Given the description of an element on the screen output the (x, y) to click on. 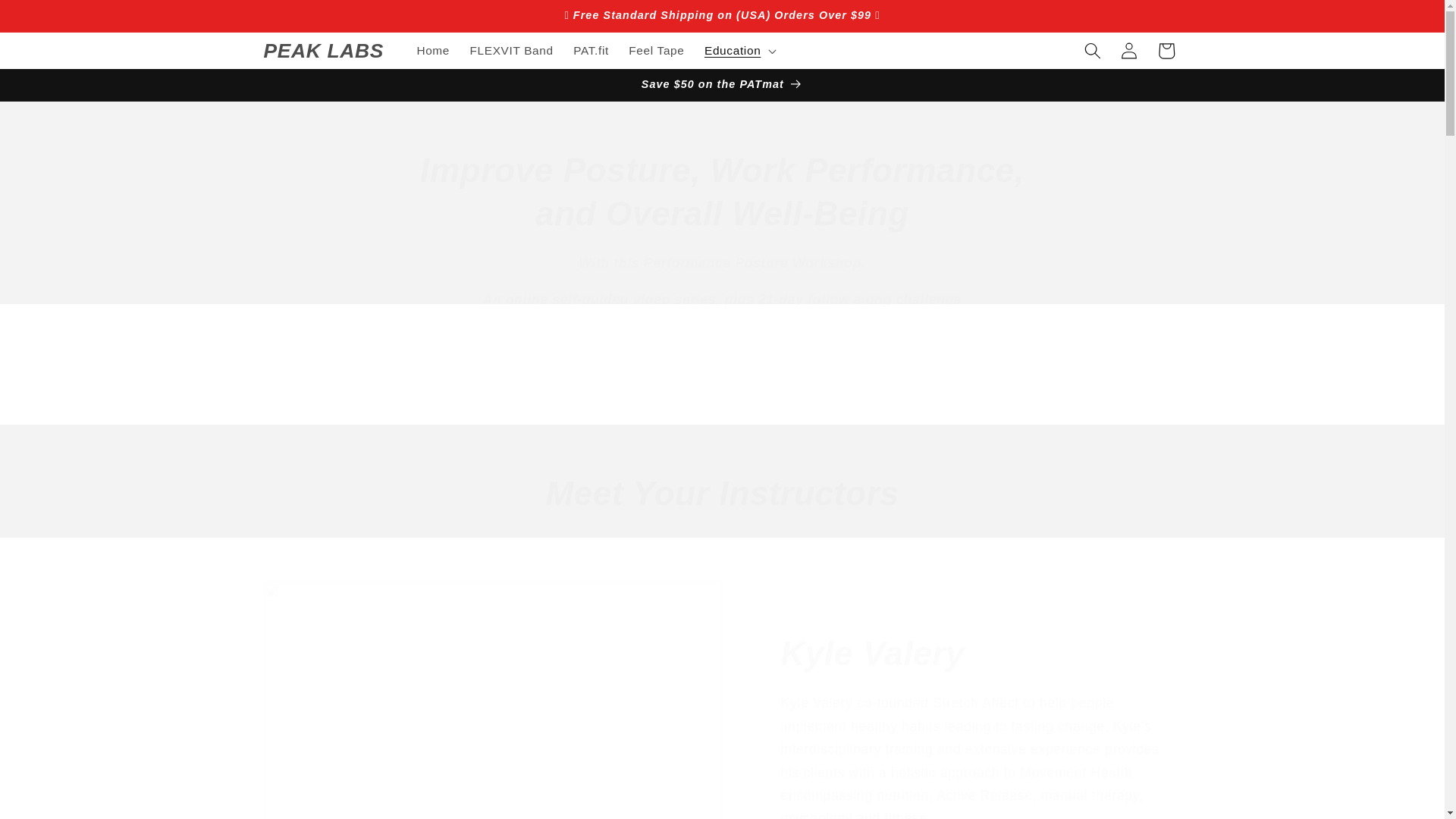
Cart (1166, 50)
Feel Tape (656, 50)
Skip to content (50, 19)
Home (433, 50)
Meet Your Instructors (722, 493)
PEAK LABS (323, 51)
Improve Posture, Work Performance, and Overall Well-Being (722, 191)
PAT.fit (590, 50)
FLEXVIT Band (511, 50)
